Given the description of an element on the screen output the (x, y) to click on. 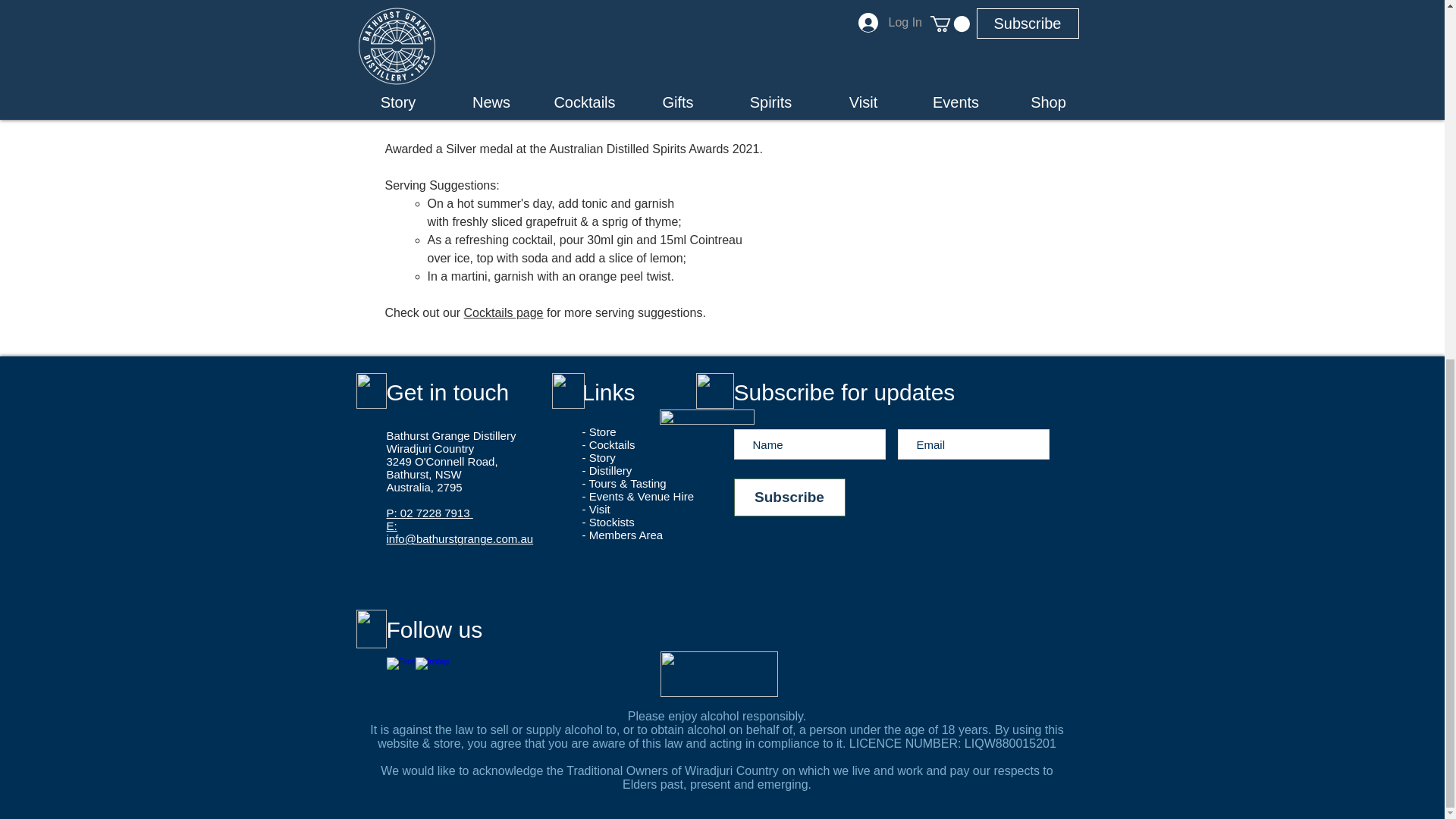
- Store (598, 431)
- Members Area (622, 534)
- Distillery (606, 470)
Subscribe (789, 497)
P: 02 7228 7913  (430, 512)
Cocktails page (503, 312)
- Stockists (608, 521)
- Cocktails (608, 444)
- Visit (596, 508)
- Story (598, 457)
